Given the description of an element on the screen output the (x, y) to click on. 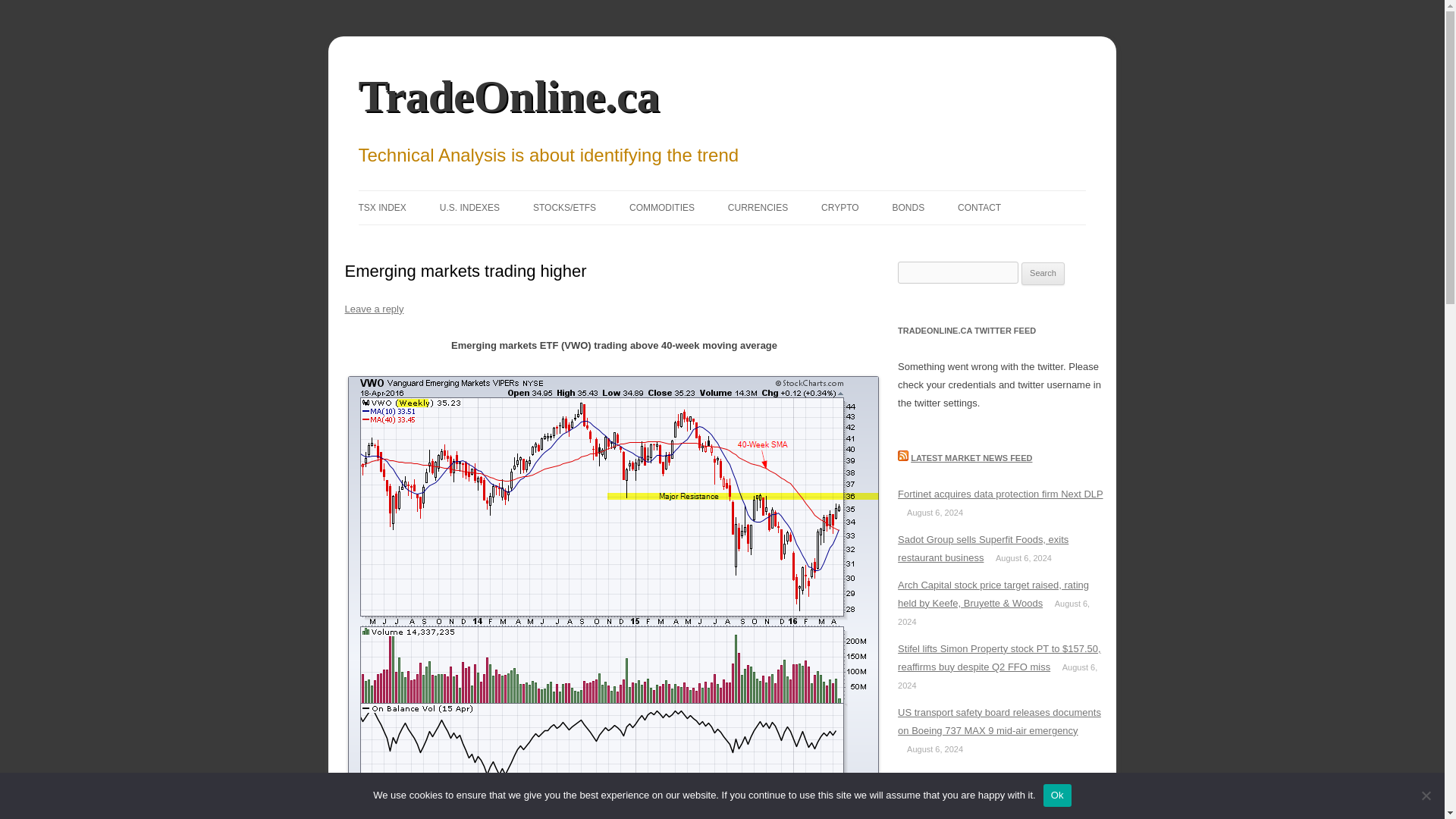
COMMODITIES (661, 207)
Leave a reply (373, 308)
BONDS (908, 207)
CRYPTO (840, 207)
CONTACT (979, 207)
TradeOnline.ca (508, 96)
Search (1043, 273)
